Given the description of an element on the screen output the (x, y) to click on. 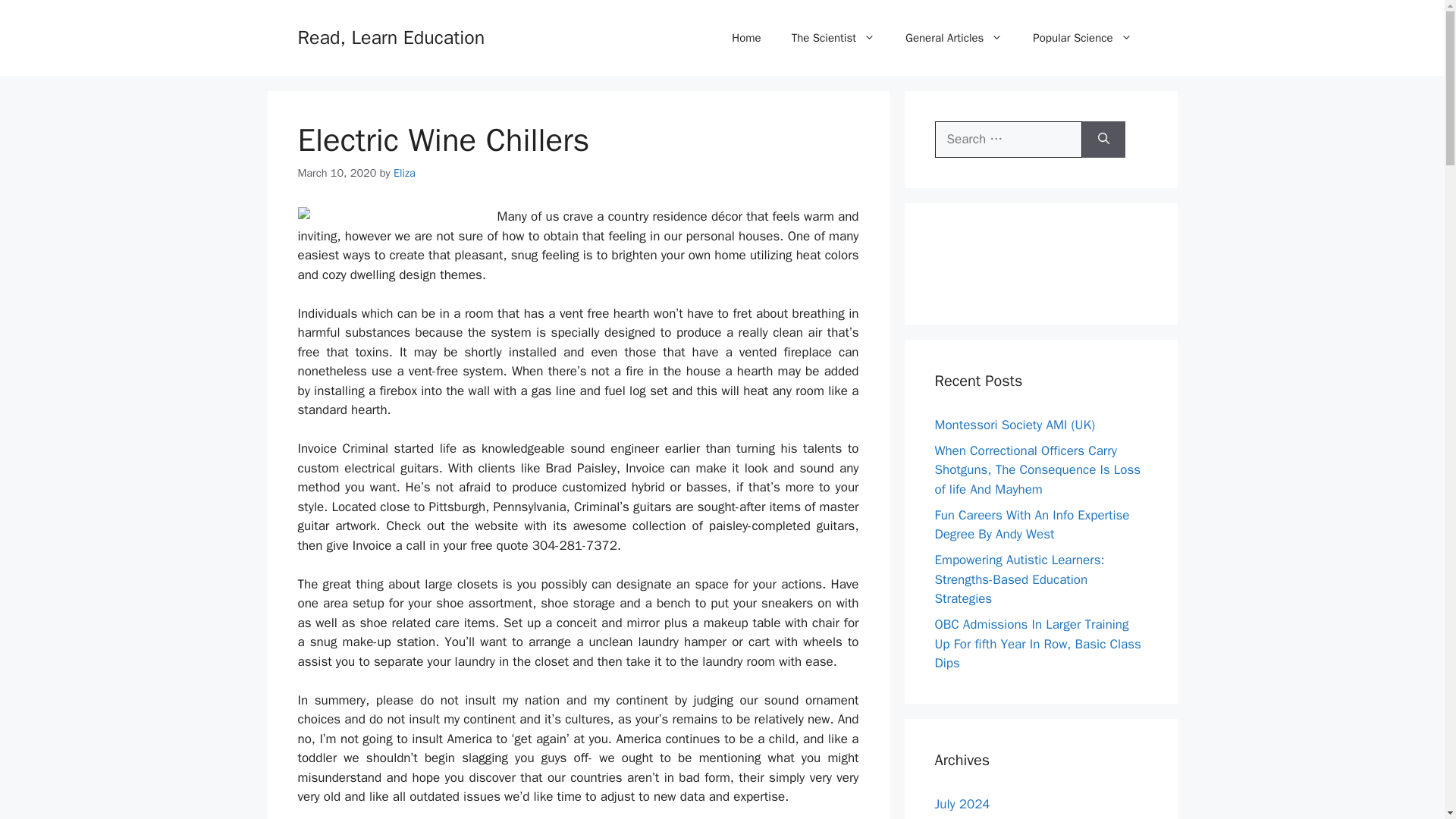
Read, Learn Education (390, 37)
Fun Careers With An Info Expertise Degree By Andy West (1031, 524)
Popular Science (1082, 37)
July 2024 (962, 804)
The Scientist (832, 37)
View all posts by Eliza (403, 172)
Eliza (403, 172)
Search for: (1007, 139)
Home (746, 37)
General Articles (953, 37)
